Given the description of an element on the screen output the (x, y) to click on. 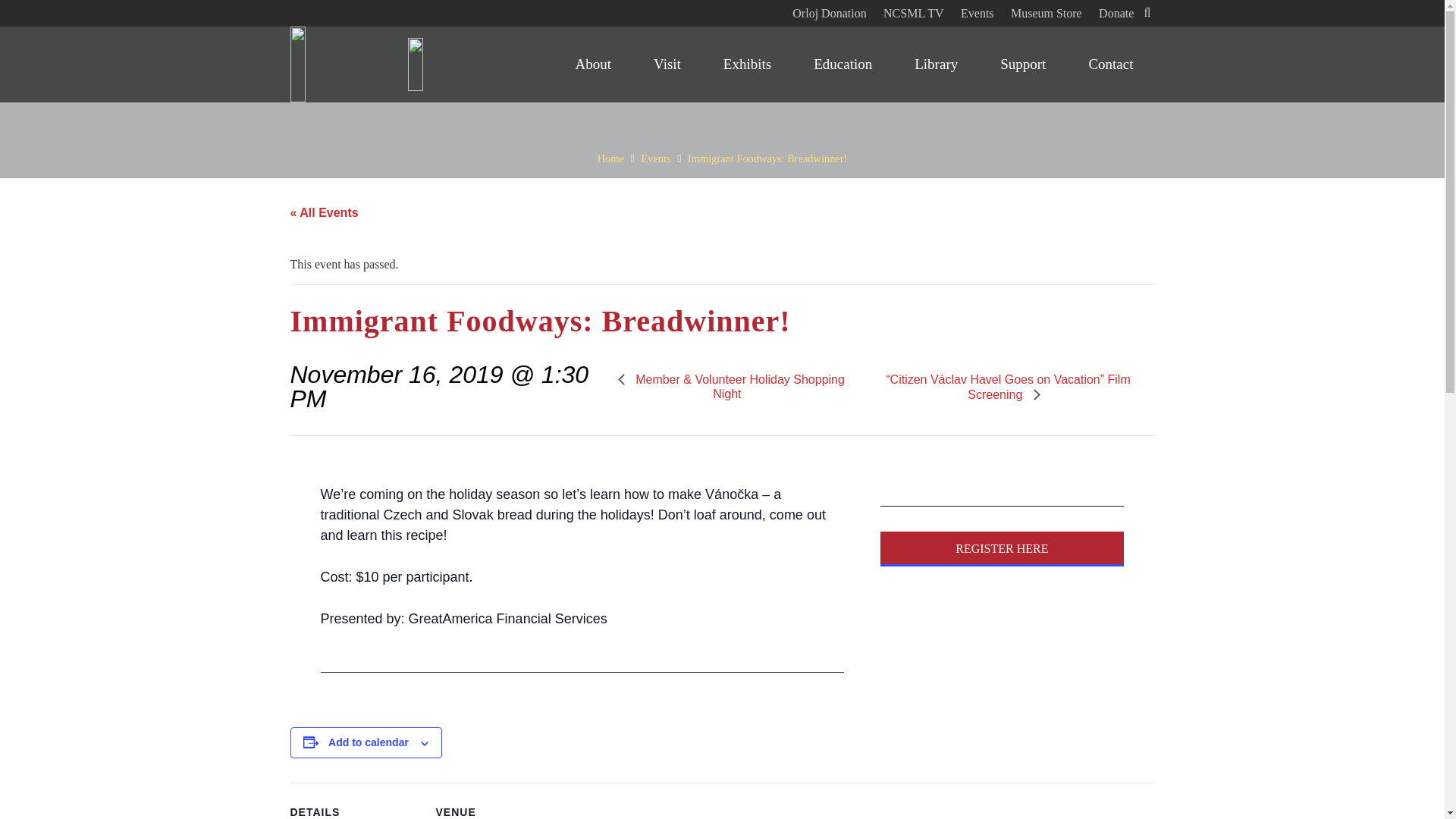
NCSML TV (913, 11)
Education (842, 64)
Museum Store (1045, 11)
Exhibits (746, 64)
Events (977, 11)
Donate (1116, 11)
Visit (666, 64)
Orloj Donation (829, 11)
About (593, 64)
